Given the description of an element on the screen output the (x, y) to click on. 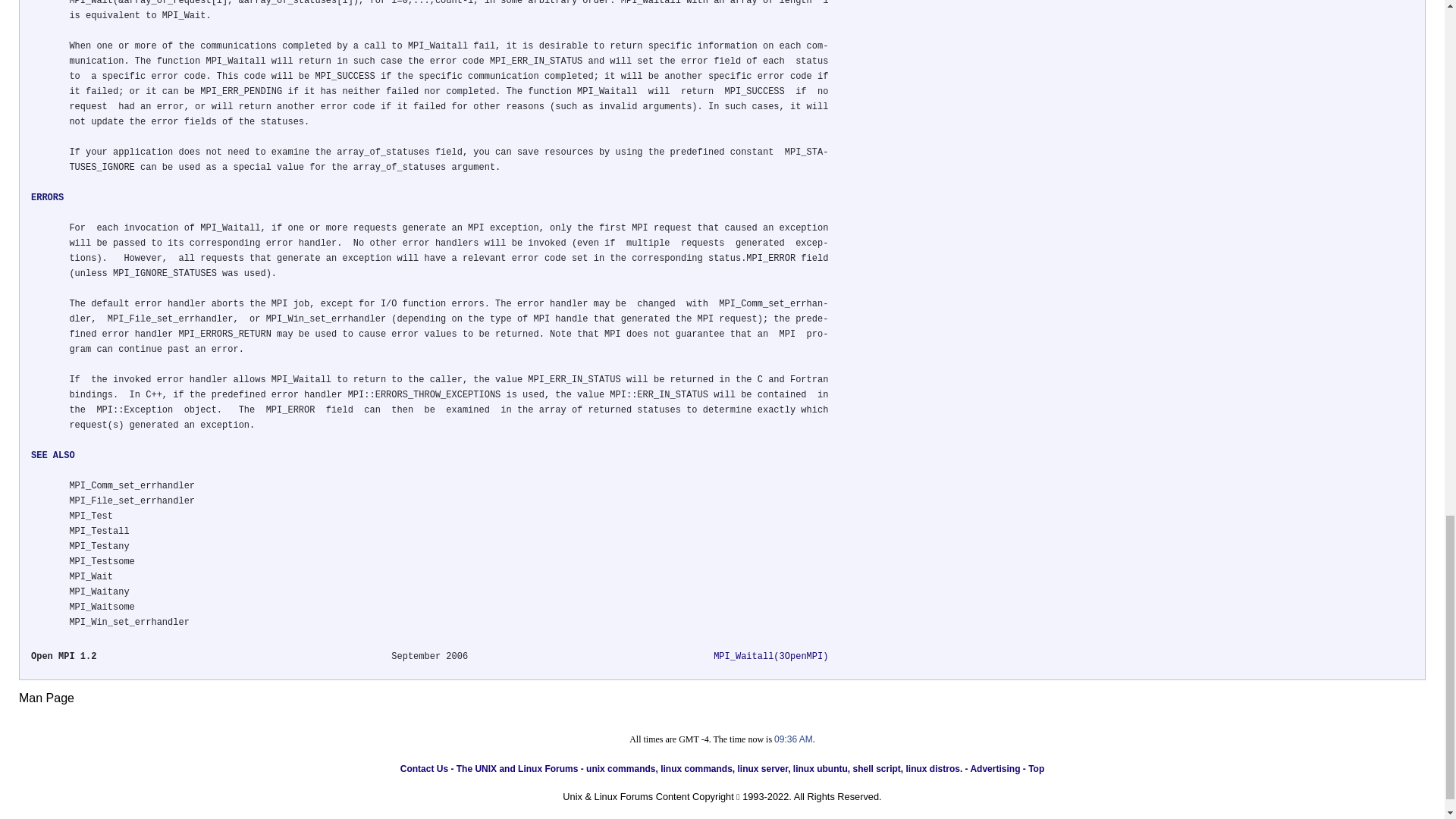
Contact Us (424, 768)
Top (1035, 768)
Advertising (994, 768)
